Given the description of an element on the screen output the (x, y) to click on. 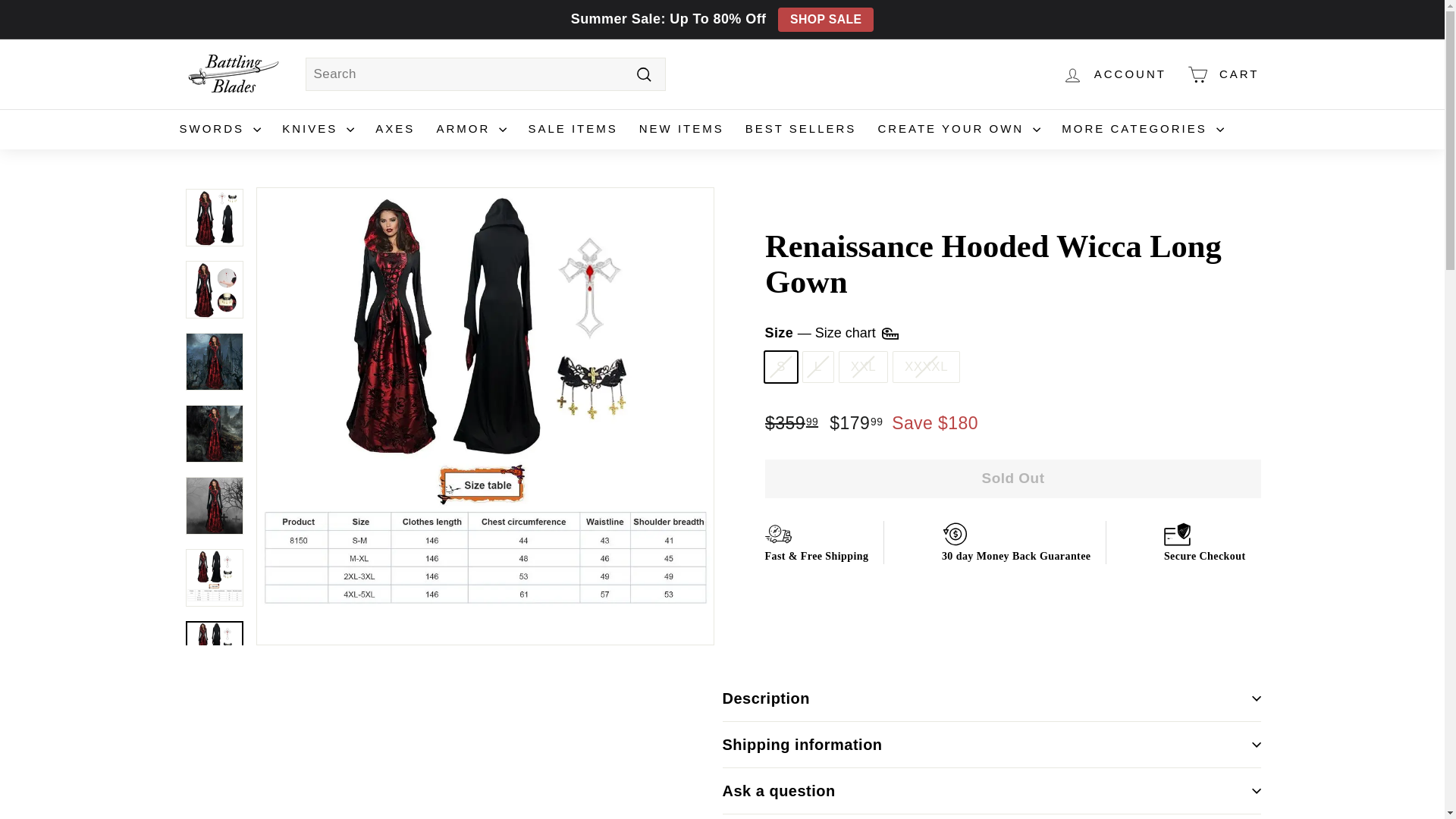
AXES (395, 128)
ACCOUNT (1113, 74)
CART (1222, 74)
SHOP SALE (825, 19)
